Given the description of an element on the screen output the (x, y) to click on. 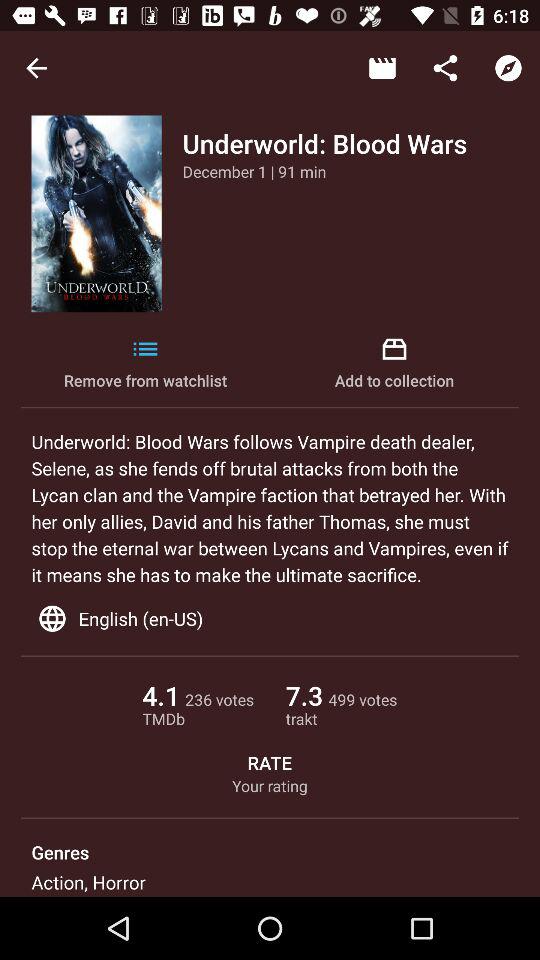
tap the add to collection (394, 364)
